Given the description of an element on the screen output the (x, y) to click on. 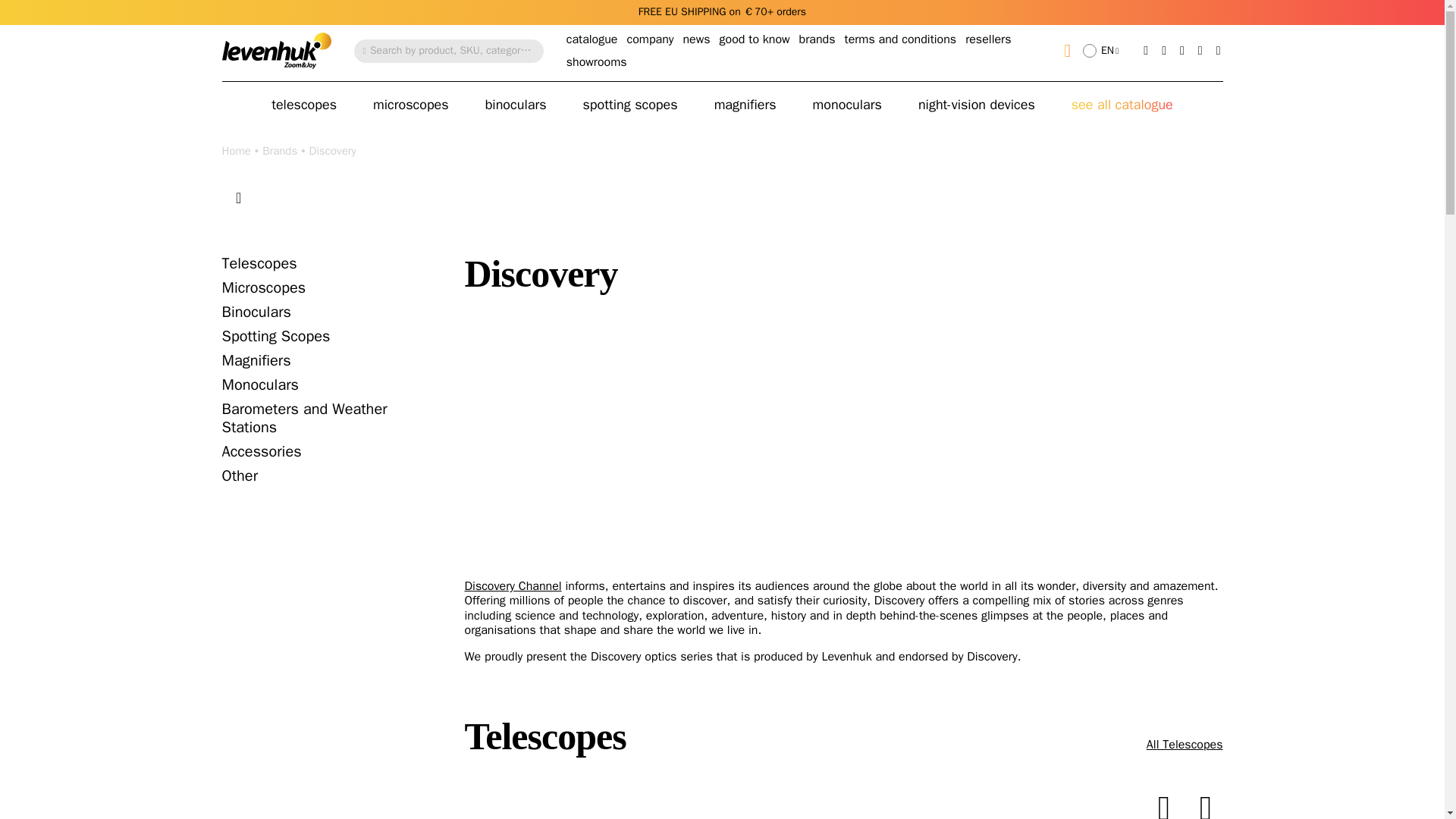
brands (817, 39)
resellers (987, 39)
news (696, 39)
company (649, 39)
terms and conditions (900, 39)
good to know (754, 39)
catalogue (591, 39)
showrooms (596, 62)
